Given the description of an element on the screen output the (x, y) to click on. 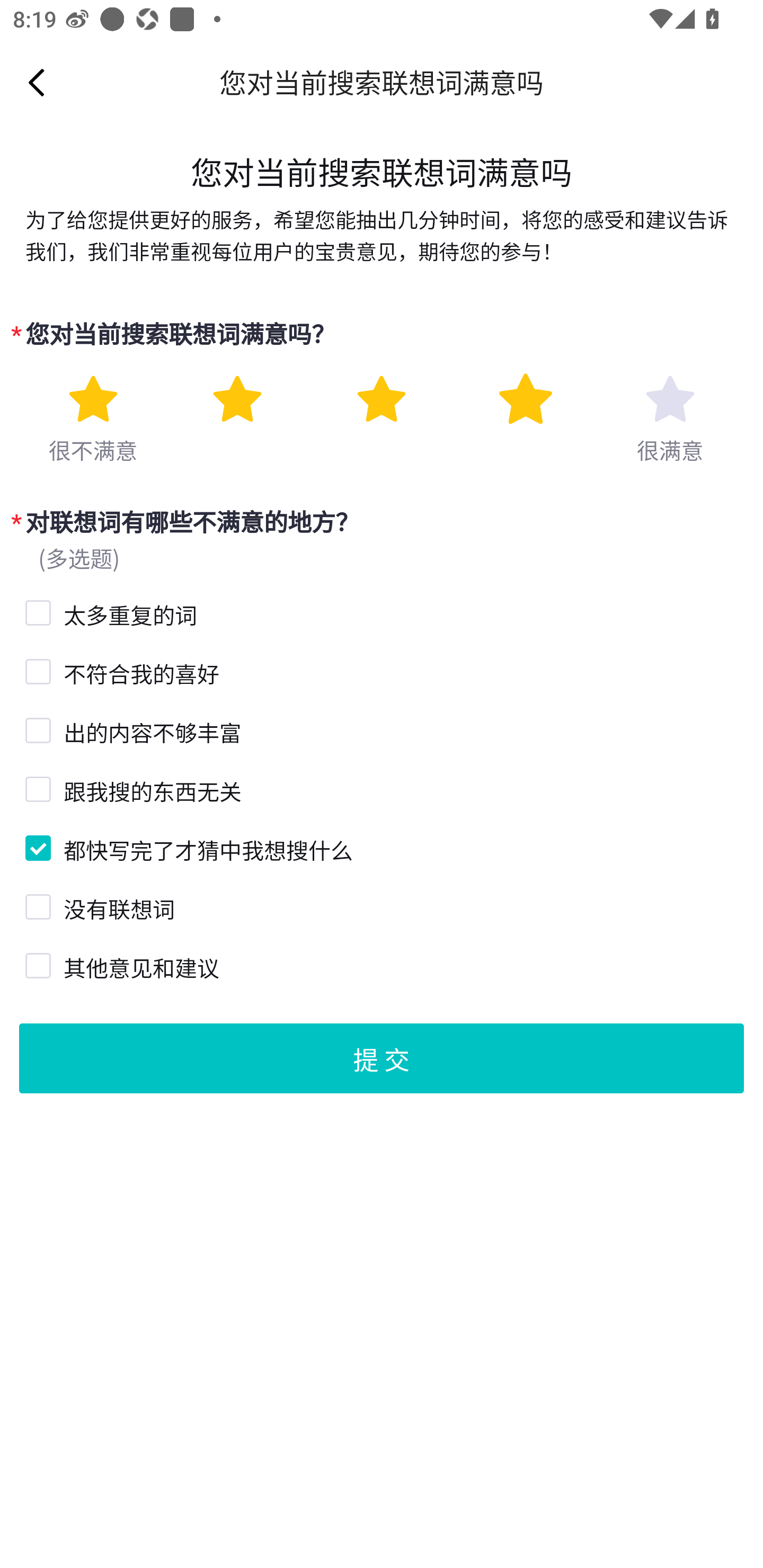
Navigate up (36, 82)
star star (525, 399)
star star (92, 399)
star star (237, 399)
star star (381, 399)
star star (669, 399)
太多重复的词   (36, 610)
不符合我的喜好   (36, 670)
出的内容不够丰富   (36, 728)
跟我搜的东西无关   (36, 787)
都快写完了才猜中我想搜什么   (36, 845)
没有联想词   (36, 905)
其他意见和建议   (36, 963)
提 交 (381, 1057)
